Given the description of an element on the screen output the (x, y) to click on. 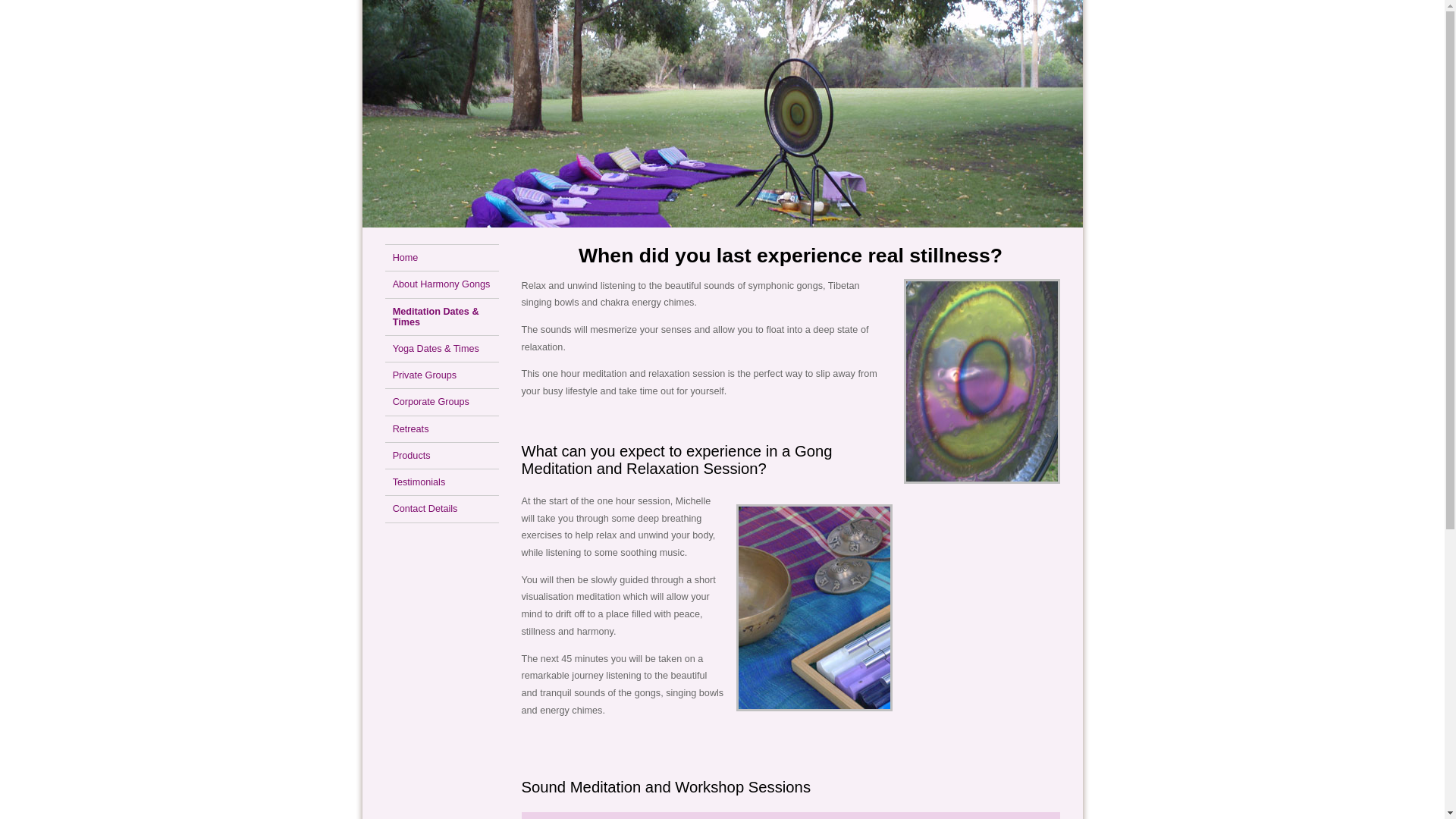
Corporate Groups Element type: text (441, 401)
Retreats Element type: text (441, 428)
Meditation Dates & Times Element type: text (441, 315)
Products Element type: text (441, 455)
About Harmony Gongs Element type: text (441, 283)
Testimonials Element type: text (441, 481)
Private Groups Element type: text (441, 374)
Home Element type: text (441, 257)
Contact Details Element type: text (441, 508)
Yoga Dates & Times Element type: text (441, 348)
